Given the description of an element on the screen output the (x, y) to click on. 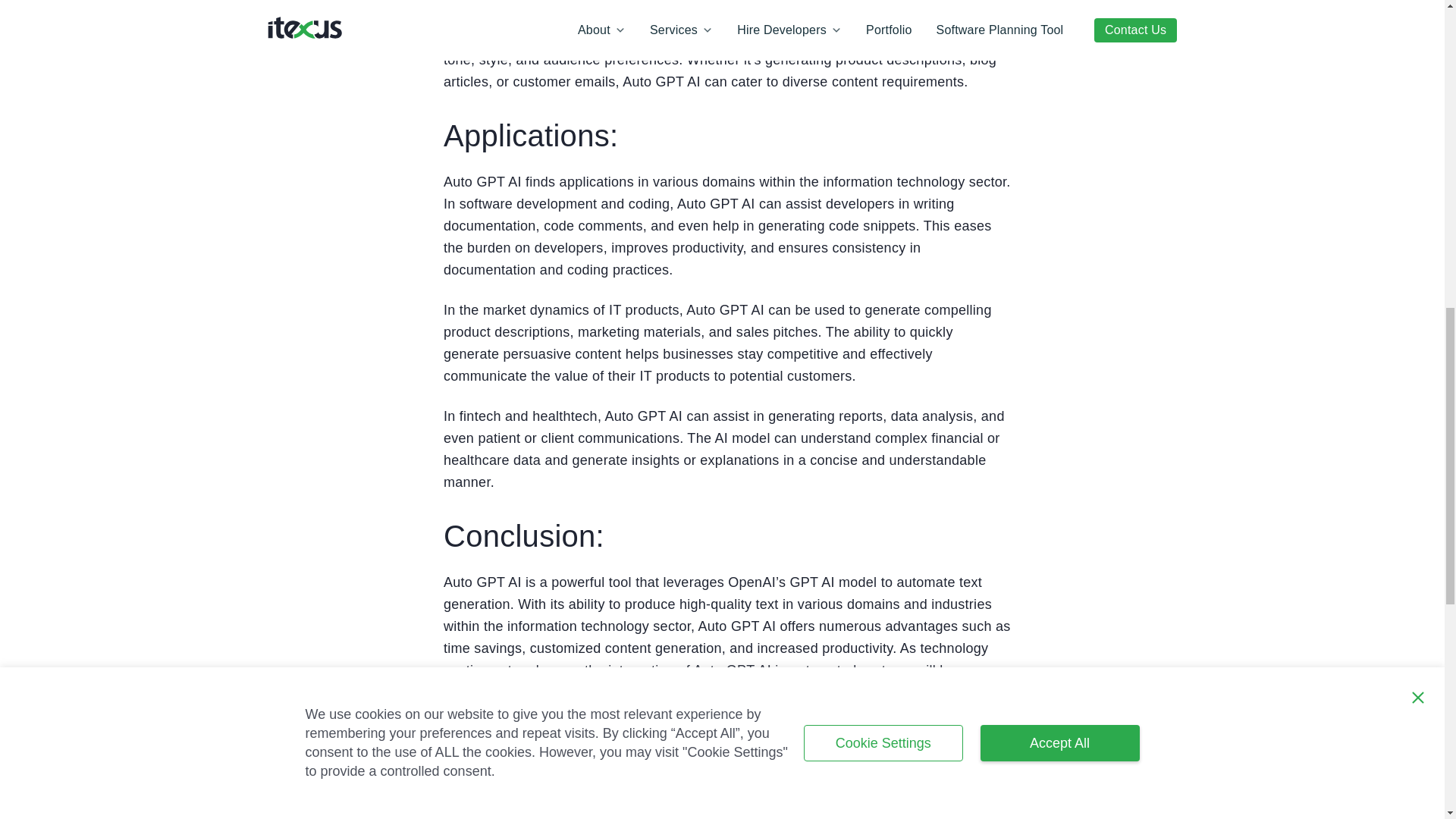
Share in Twitter (927, 768)
Share in Facebook (892, 768)
Share in Reddit (962, 768)
Share in Linkedin (857, 768)
Copy to Clipboard (997, 768)
